Given the description of an element on the screen output the (x, y) to click on. 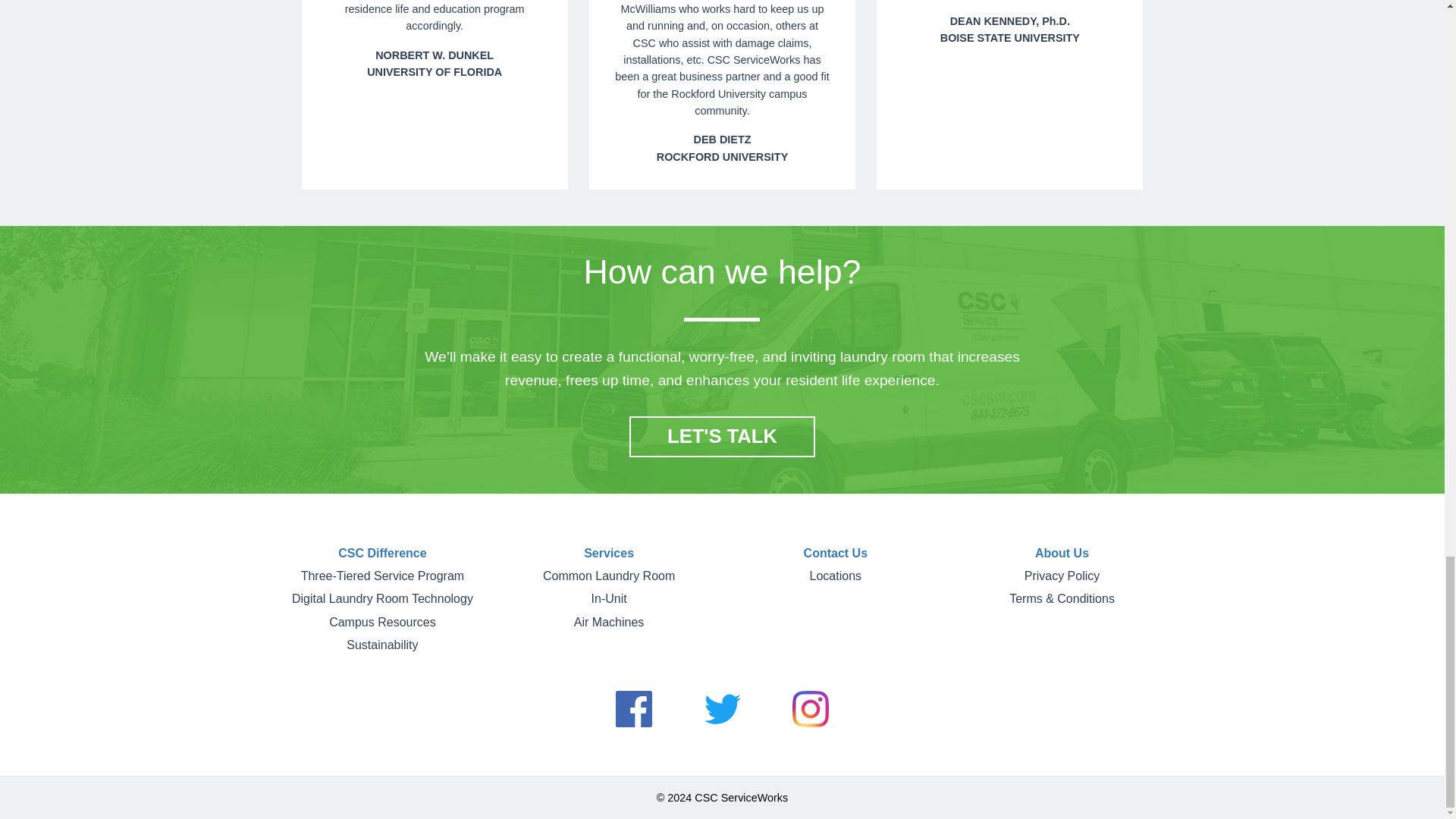
About Us (1062, 553)
Common Laundry Room (609, 575)
Campus Resources (382, 621)
Privacy Policy (1062, 575)
Air Machines (608, 621)
Services (608, 553)
Sustainability (381, 644)
LET'S TALK (721, 436)
Three-Tiered Service Program (382, 575)
Digital Laundry Room Technology (382, 598)
CSC Difference (381, 553)
Contact Us (835, 553)
In-Unit (609, 598)
Locations (835, 575)
